Given the description of an element on the screen output the (x, y) to click on. 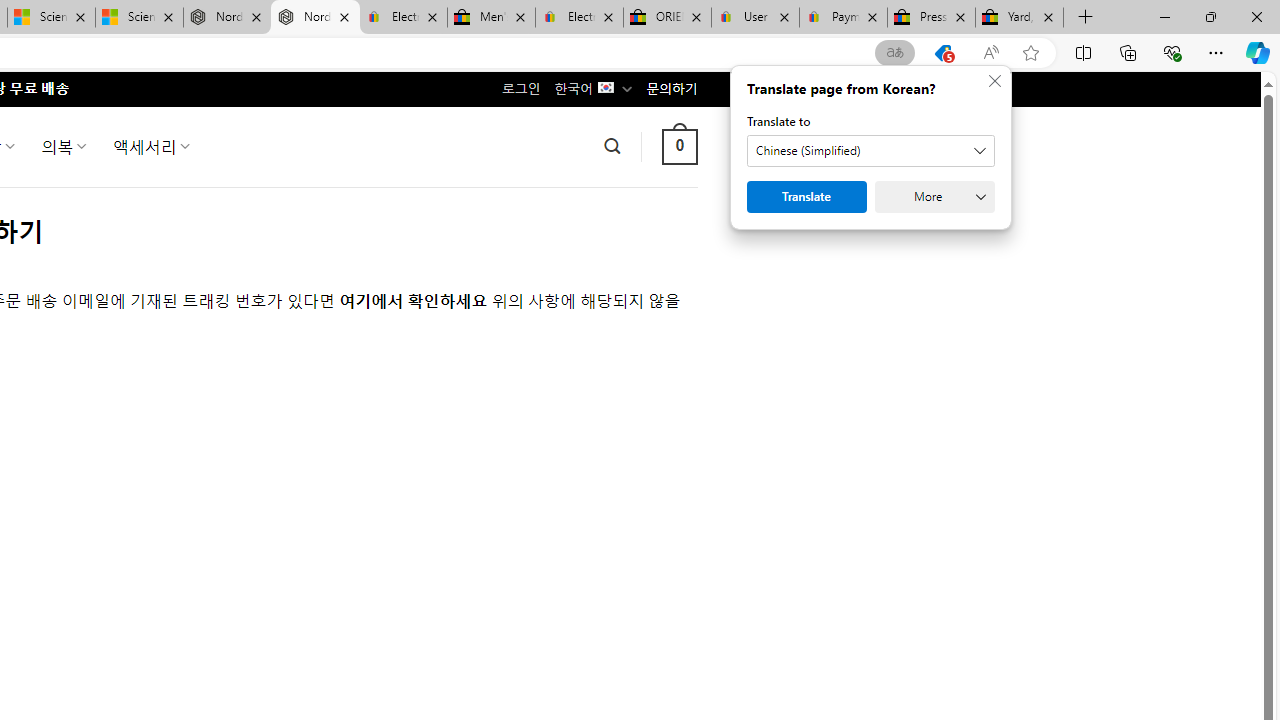
 0  (679, 146)
More (934, 196)
